Given the description of an element on the screen output the (x, y) to click on. 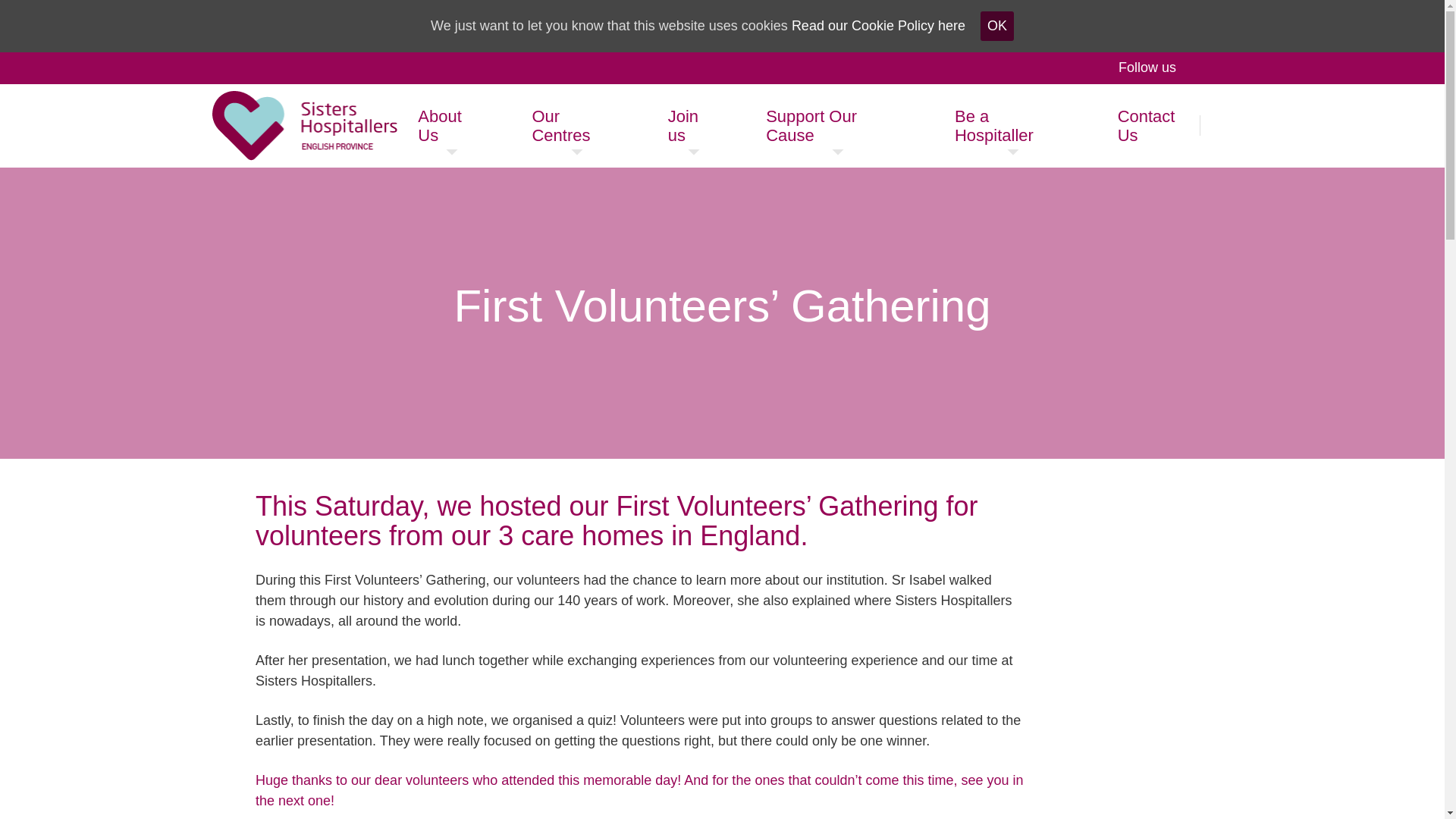
Join us (694, 125)
Our Centres (576, 125)
Contact Us (1158, 125)
Support Our Cause (836, 125)
Be a Hospitaller (1013, 125)
About Us (451, 125)
